Given the description of an element on the screen output the (x, y) to click on. 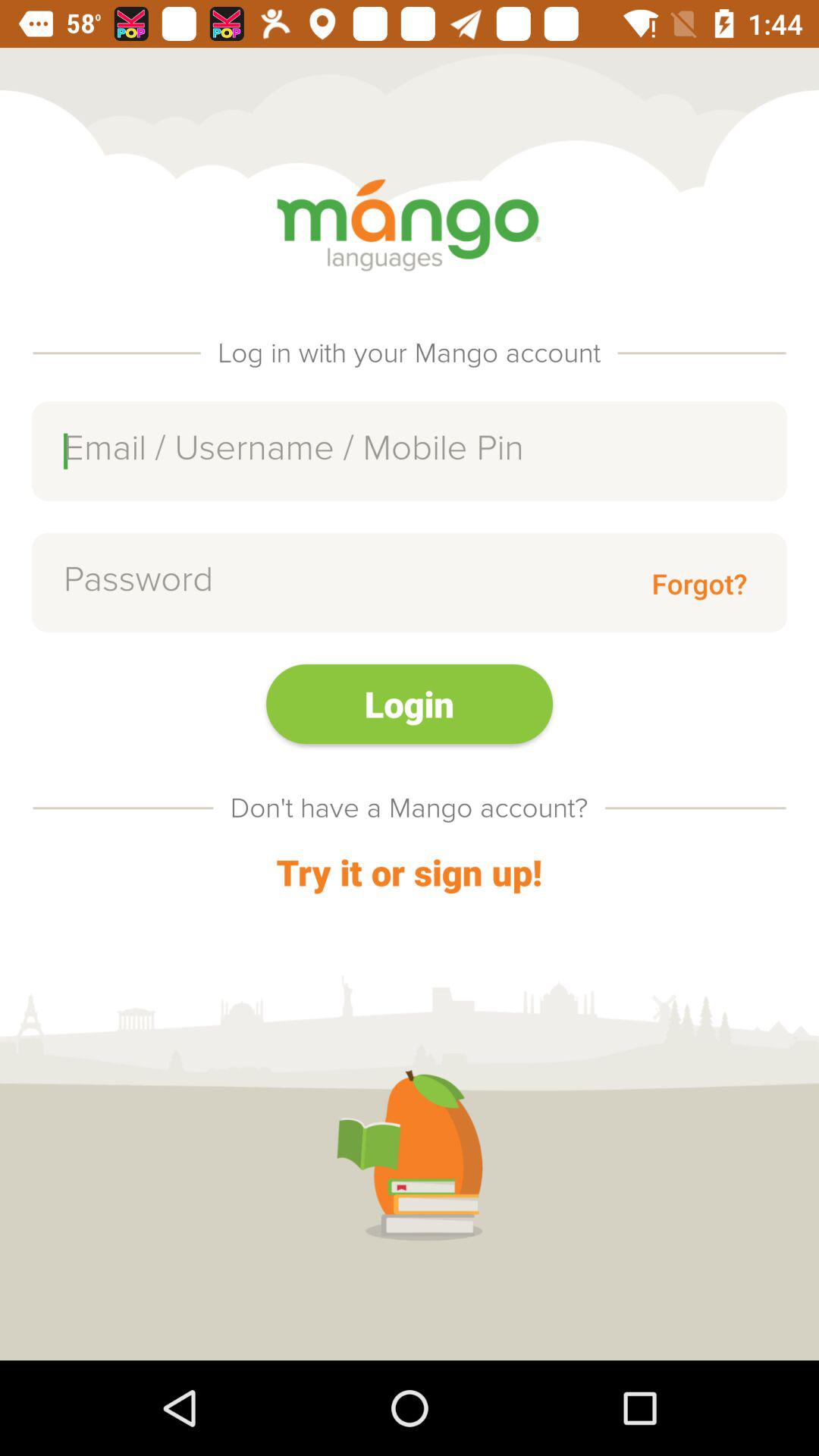
swipe until the login item (409, 703)
